Given the description of an element on the screen output the (x, y) to click on. 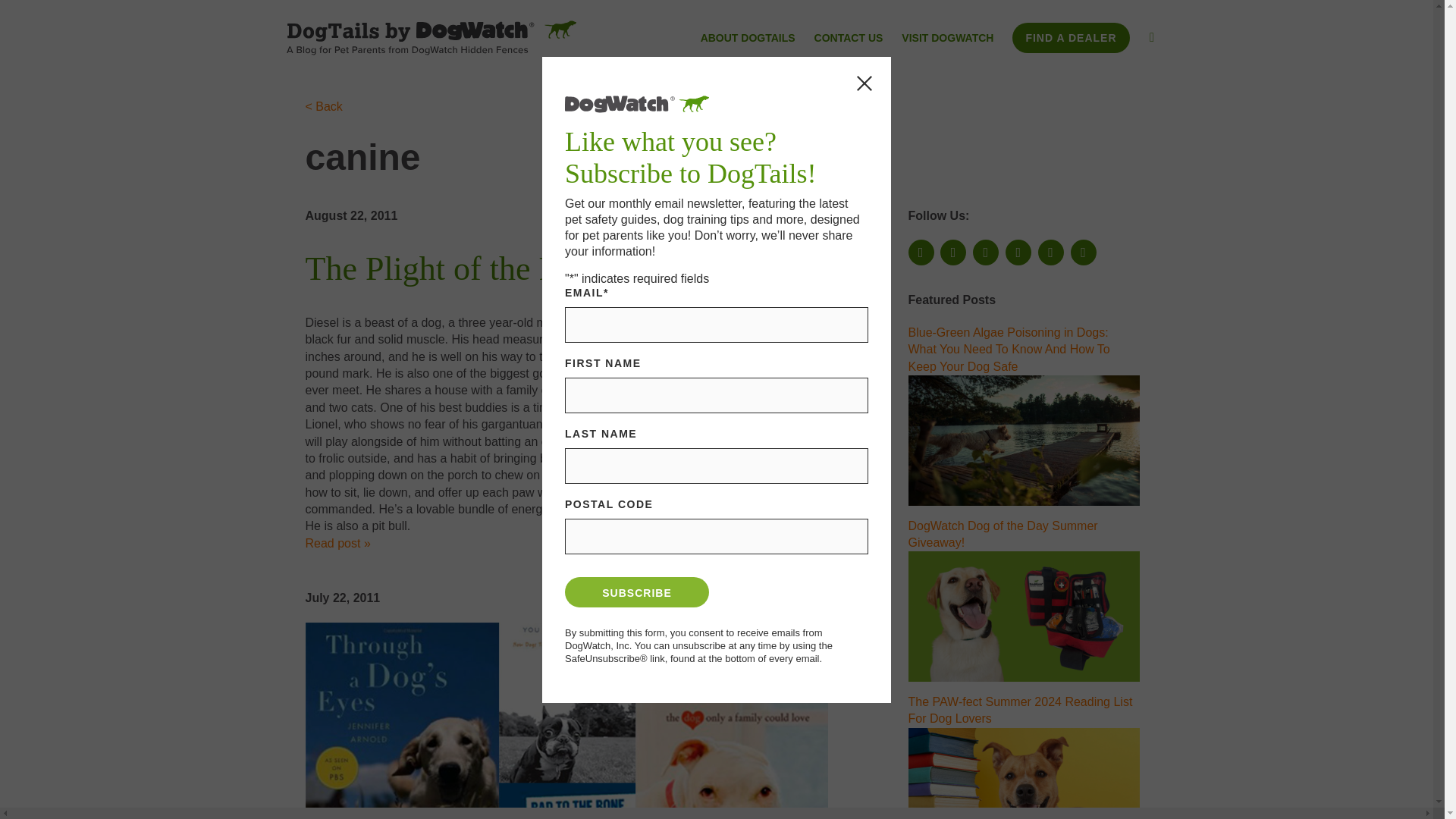
DogWatch Hidden Fence Systems facebook (921, 252)
DogWatch Hidden Fence Systems Rss (1018, 252)
DogWatch Dog of the Day Summer Giveaway! (1024, 616)
readinglist2011 (565, 720)
Subscribe (636, 592)
VISIT DOGWATCH (946, 38)
Find a Dealer (1070, 37)
The PAW-fect Summer 2024 Reading List For Dog Lovers (1020, 709)
DogWatch Hidden Fence Systems YouTube (985, 252)
ABOUT DOGTAILS (747, 38)
About DogTails (747, 38)
CONTACT US (848, 38)
The PAW-fect Summer 2024 Reading List For Dog Lovers (1024, 773)
The Plight of the Pit Bull (473, 268)
